Given the description of an element on the screen output the (x, y) to click on. 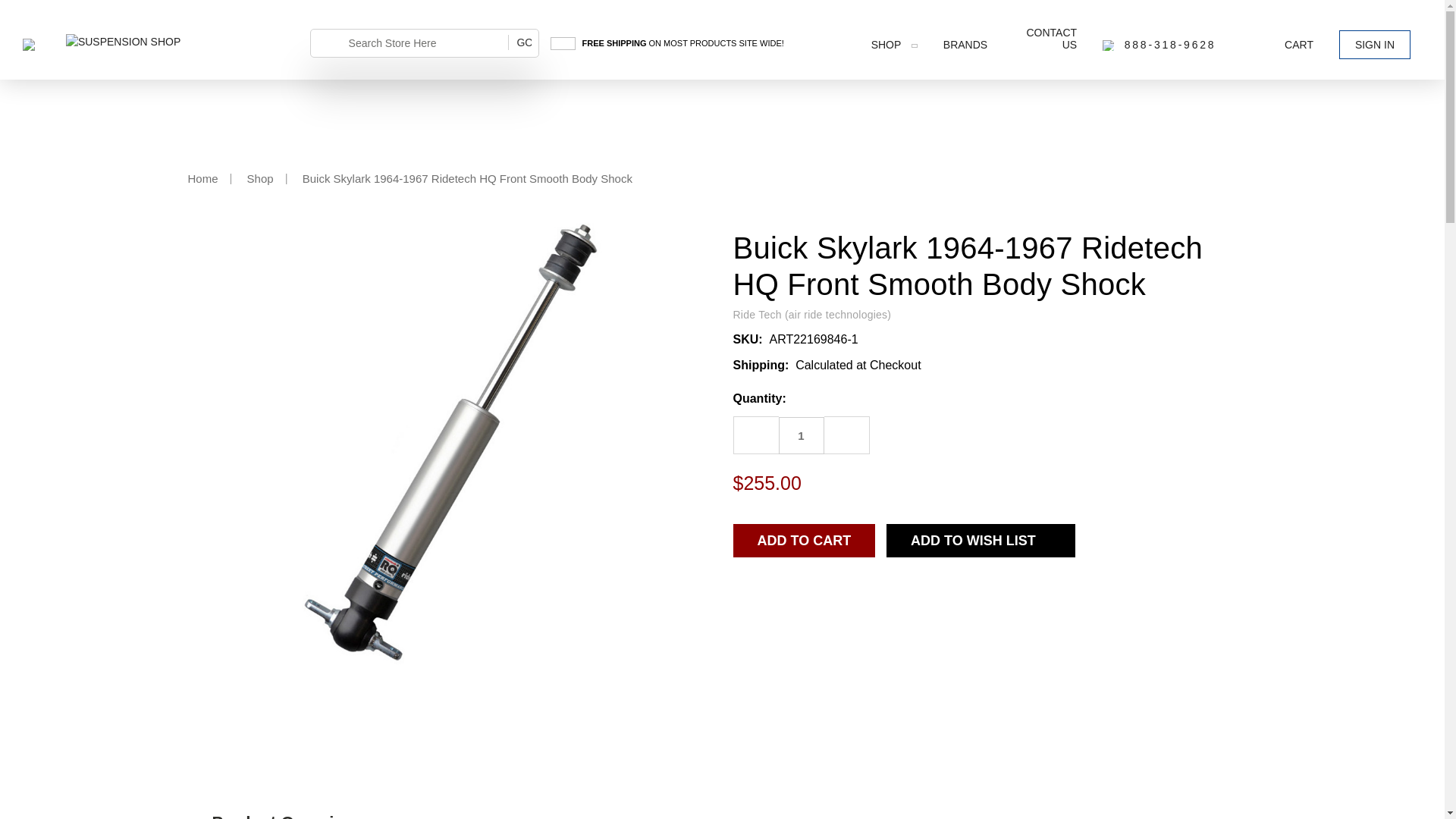
Twitter (825, 592)
Facebook (745, 592)
Submit Search (523, 42)
GO (523, 42)
submit (332, 43)
Print (798, 592)
Add to Cart (803, 540)
1 (800, 435)
Email (771, 592)
